Given the description of an element on the screen output the (x, y) to click on. 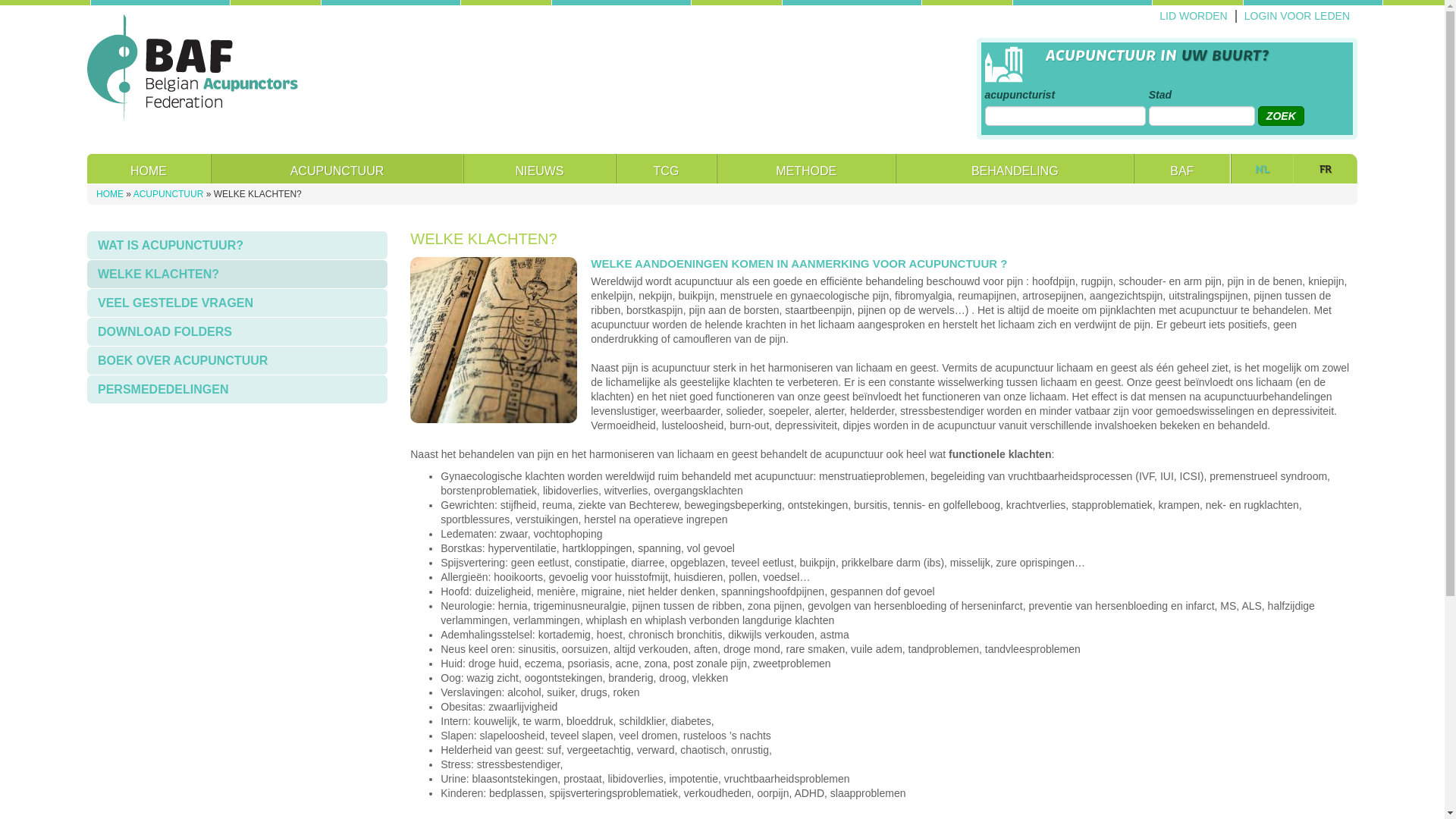
DOWNLOAD FOLDERS Element type: text (237, 331)
HOME Element type: text (109, 193)
NL Element type: text (1261, 168)
ACUPUNCTUUR Element type: text (336, 168)
WELKE KLACHTEN? Element type: text (237, 274)
TCG Element type: text (665, 168)
VEEL GESTELDE VRAGEN Element type: text (237, 302)
zoek Element type: text (1281, 115)
METHODE Element type: text (805, 168)
FR Element type: text (1325, 168)
LOGIN VOOR LEDEN Element type: text (1296, 15)
BEHANDELING Element type: text (1014, 168)
BAF Element type: text (1181, 168)
HOME Element type: text (148, 168)
Home Element type: hover (192, 68)
NIEUWS Element type: text (539, 168)
LID WORDEN Element type: text (1193, 15)
WAT IS ACUPUNCTUUR? Element type: text (237, 245)
BOEK OVER ACUPUNCTUUR Element type: text (237, 360)
PERSMEDEDELINGEN Element type: text (237, 389)
ACUPUNCTUUR Element type: text (168, 193)
